Given the description of an element on the screen output the (x, y) to click on. 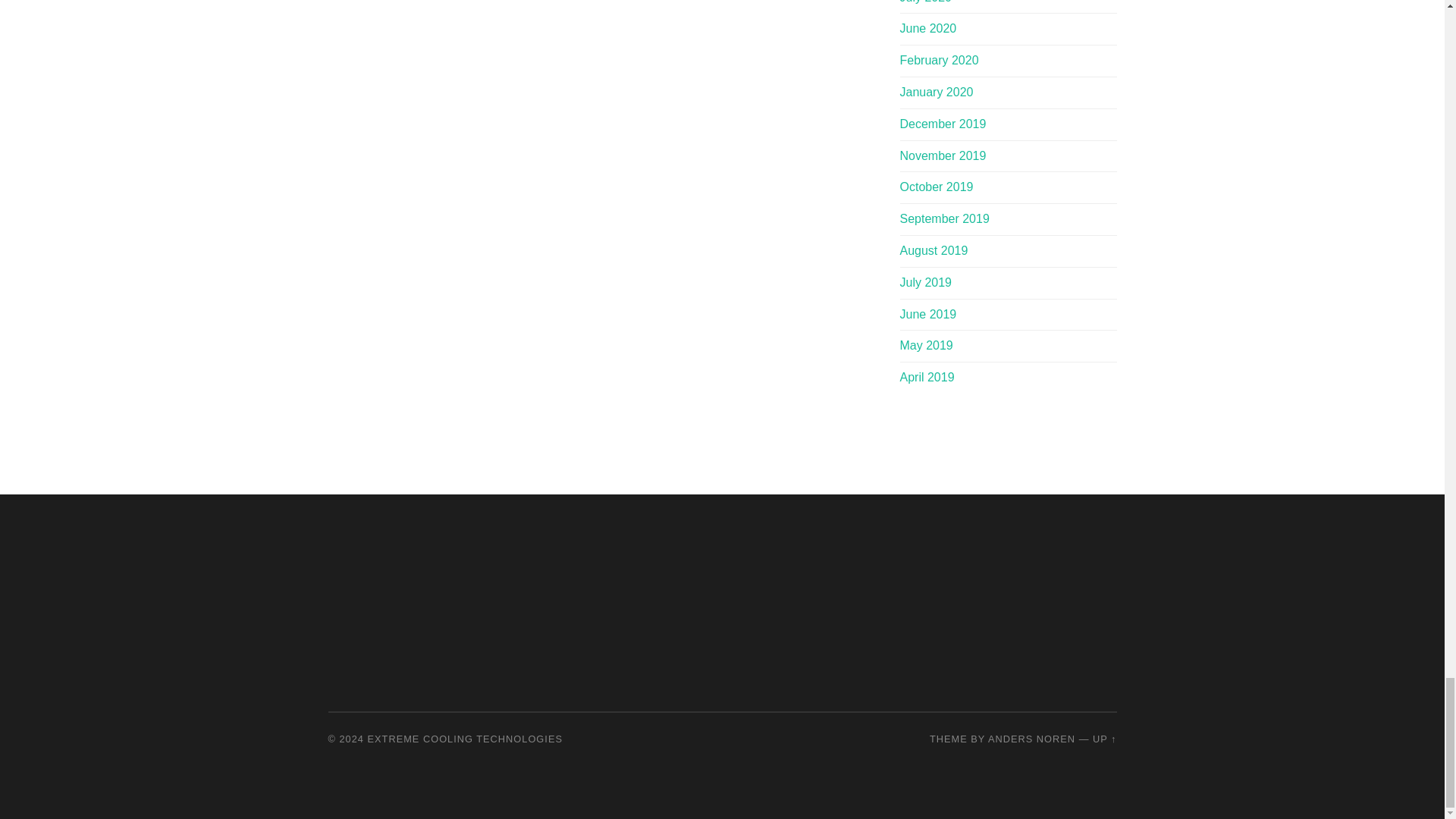
To the top (1104, 738)
